Given the description of an element on the screen output the (x, y) to click on. 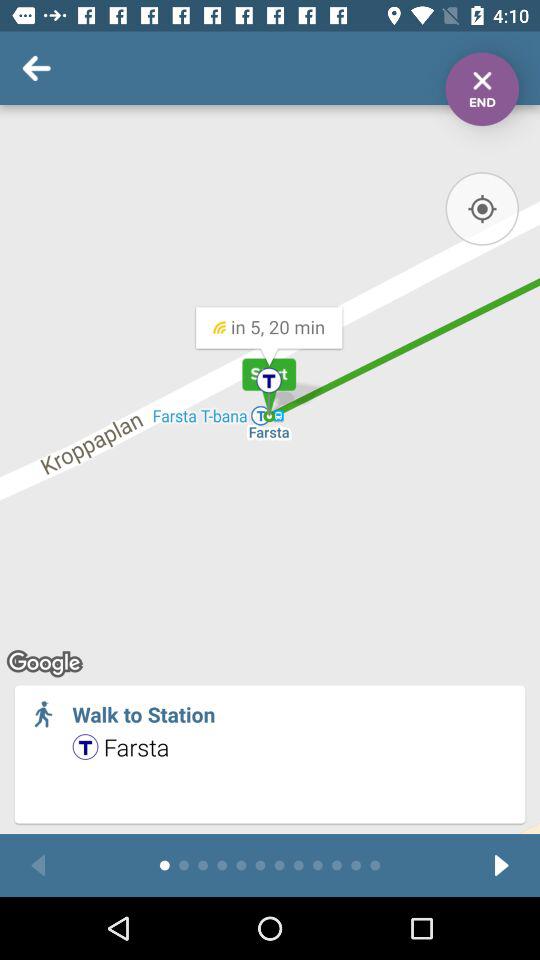
next passage (501, 865)
